Given the description of an element on the screen output the (x, y) to click on. 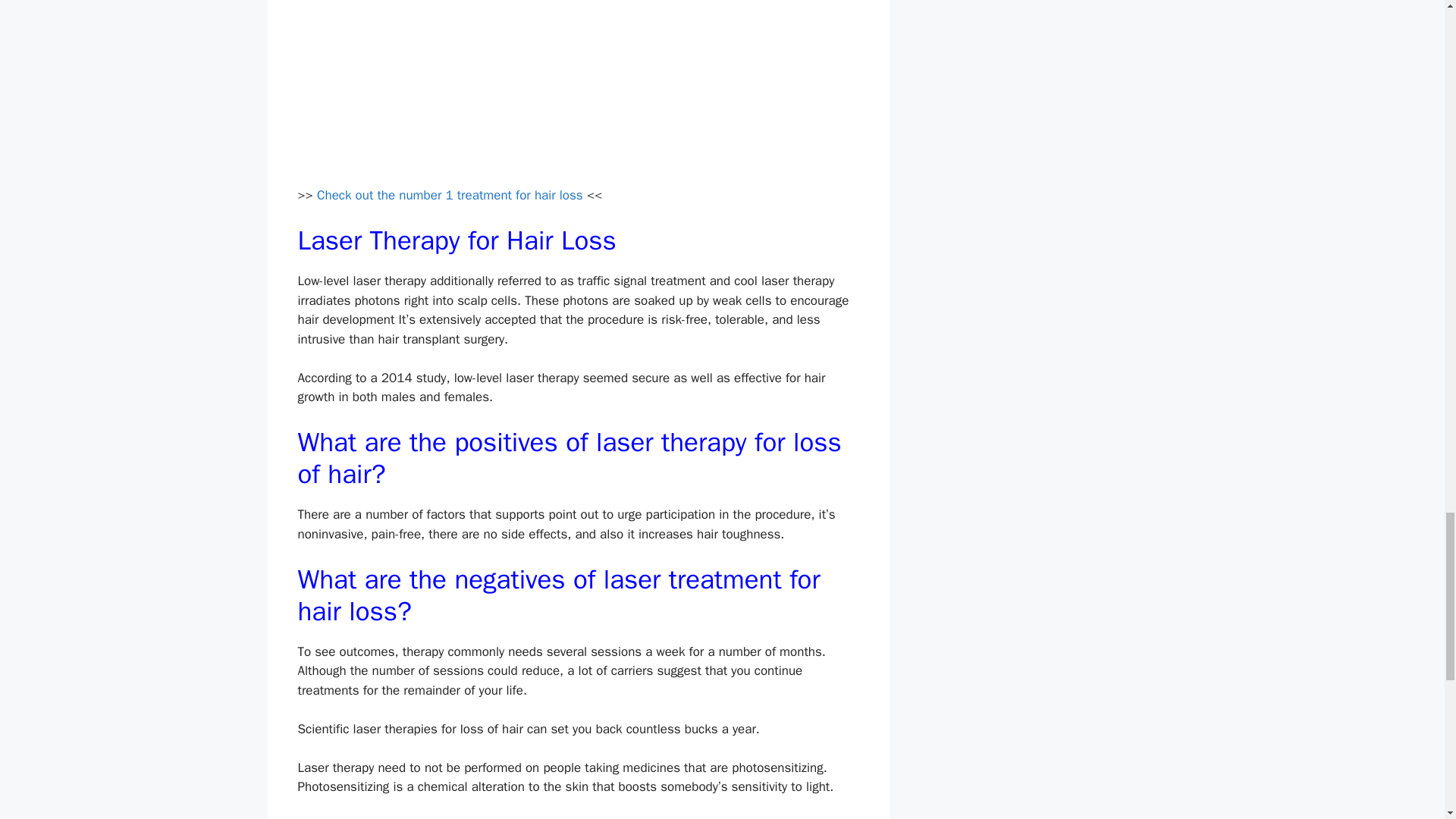
Check out the number 1 treatment for hair loss (450, 195)
